Given the description of an element on the screen output the (x, y) to click on. 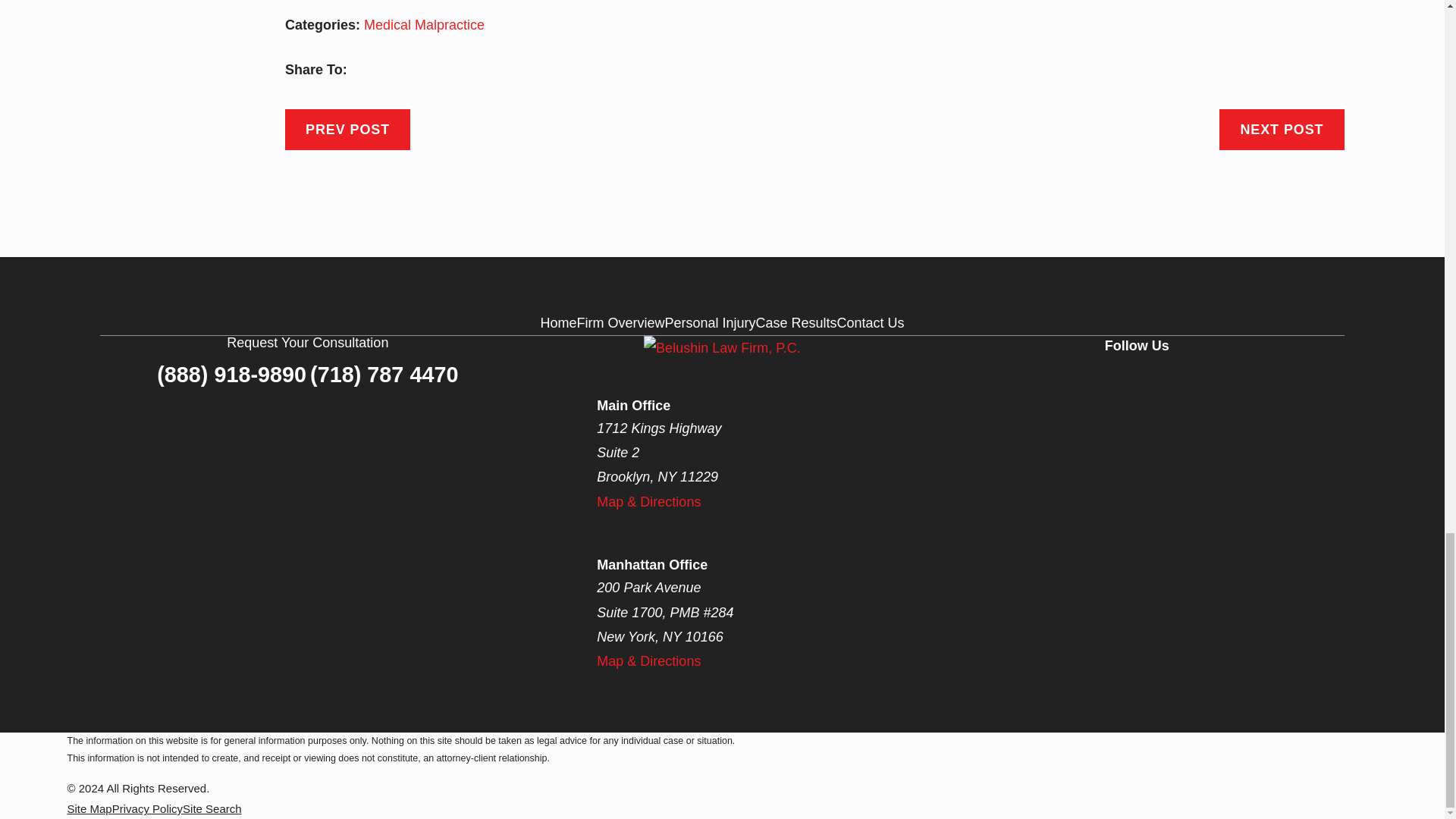
Twitter (1111, 379)
YouTube (1210, 379)
Home (721, 347)
Google Business Profile (1160, 379)
Facebook (1061, 379)
